Given the description of an element on the screen output the (x, y) to click on. 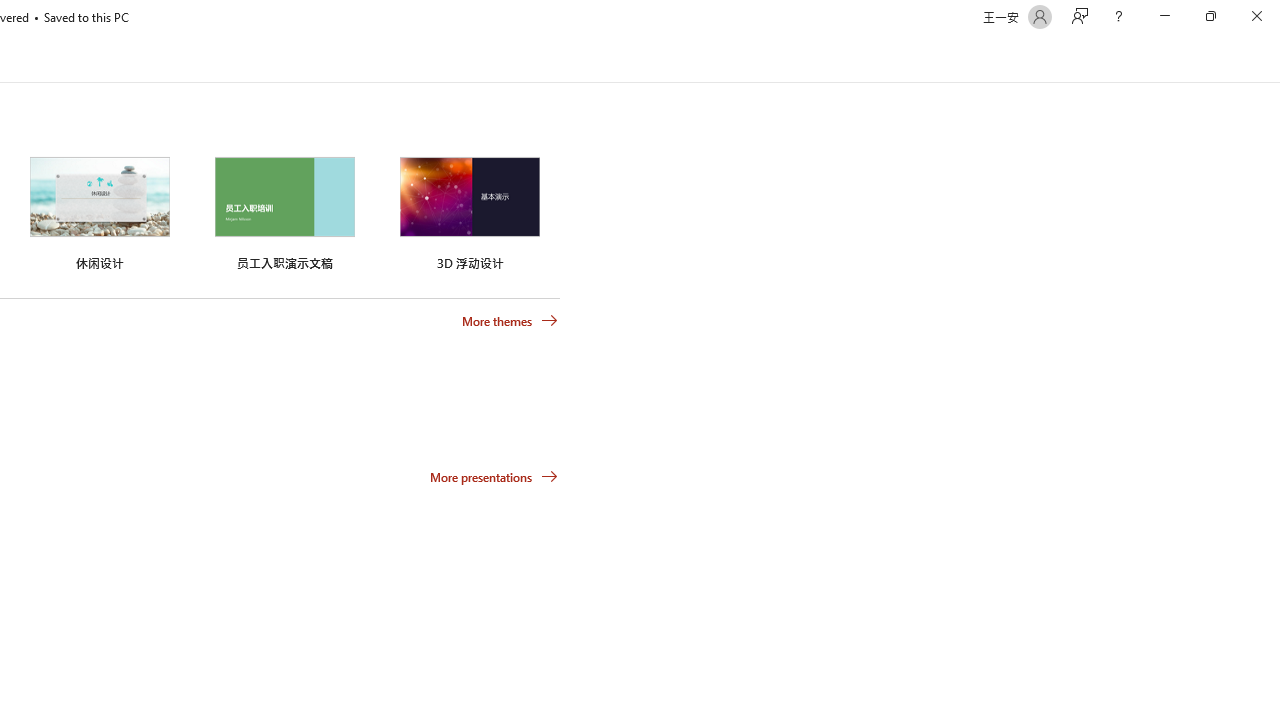
More presentations (493, 476)
More themes (509, 321)
